Given the description of an element on the screen output the (x, y) to click on. 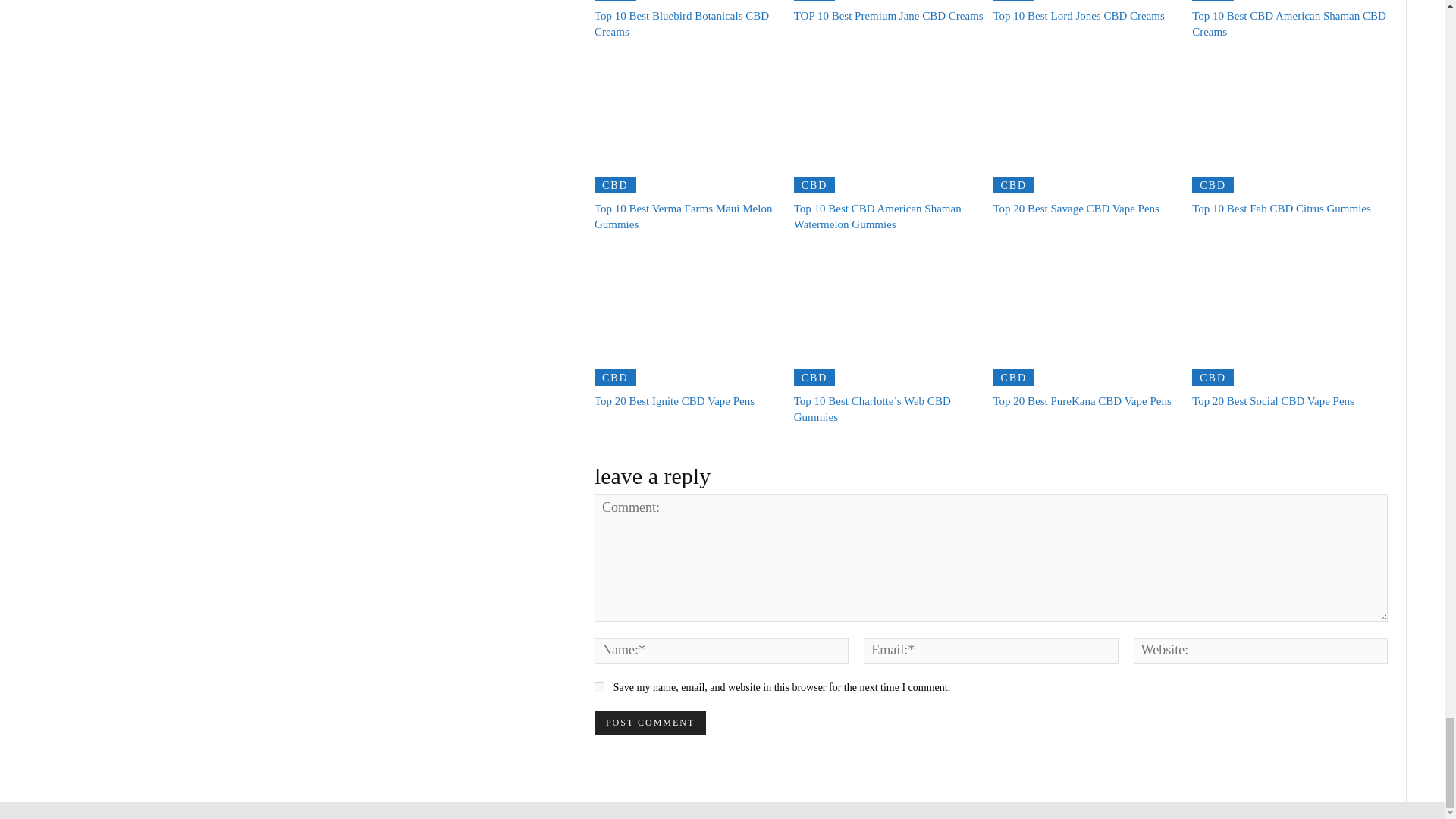
Post Comment (650, 722)
yes (599, 687)
